Given the description of an element on the screen output the (x, y) to click on. 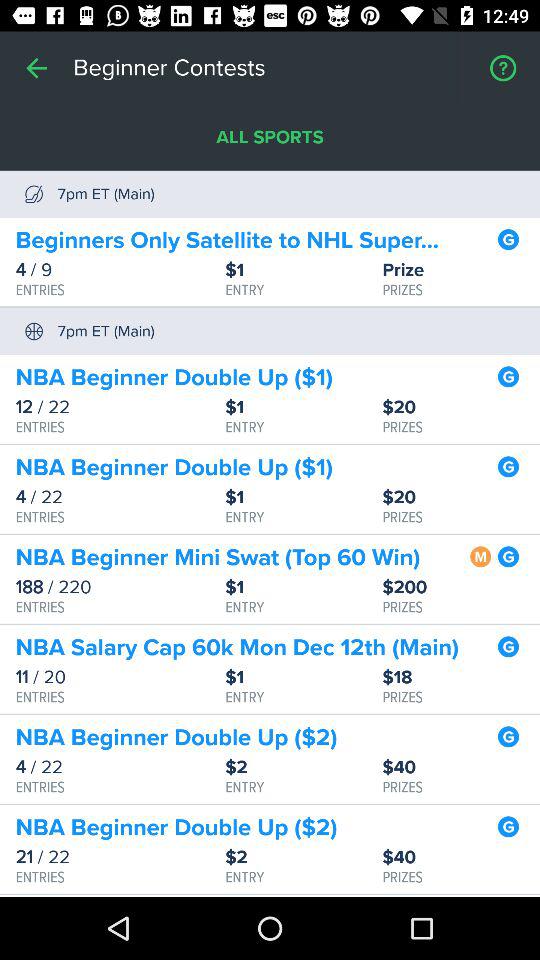
press the icon to the left of the $1 item (120, 677)
